Given the description of an element on the screen output the (x, y) to click on. 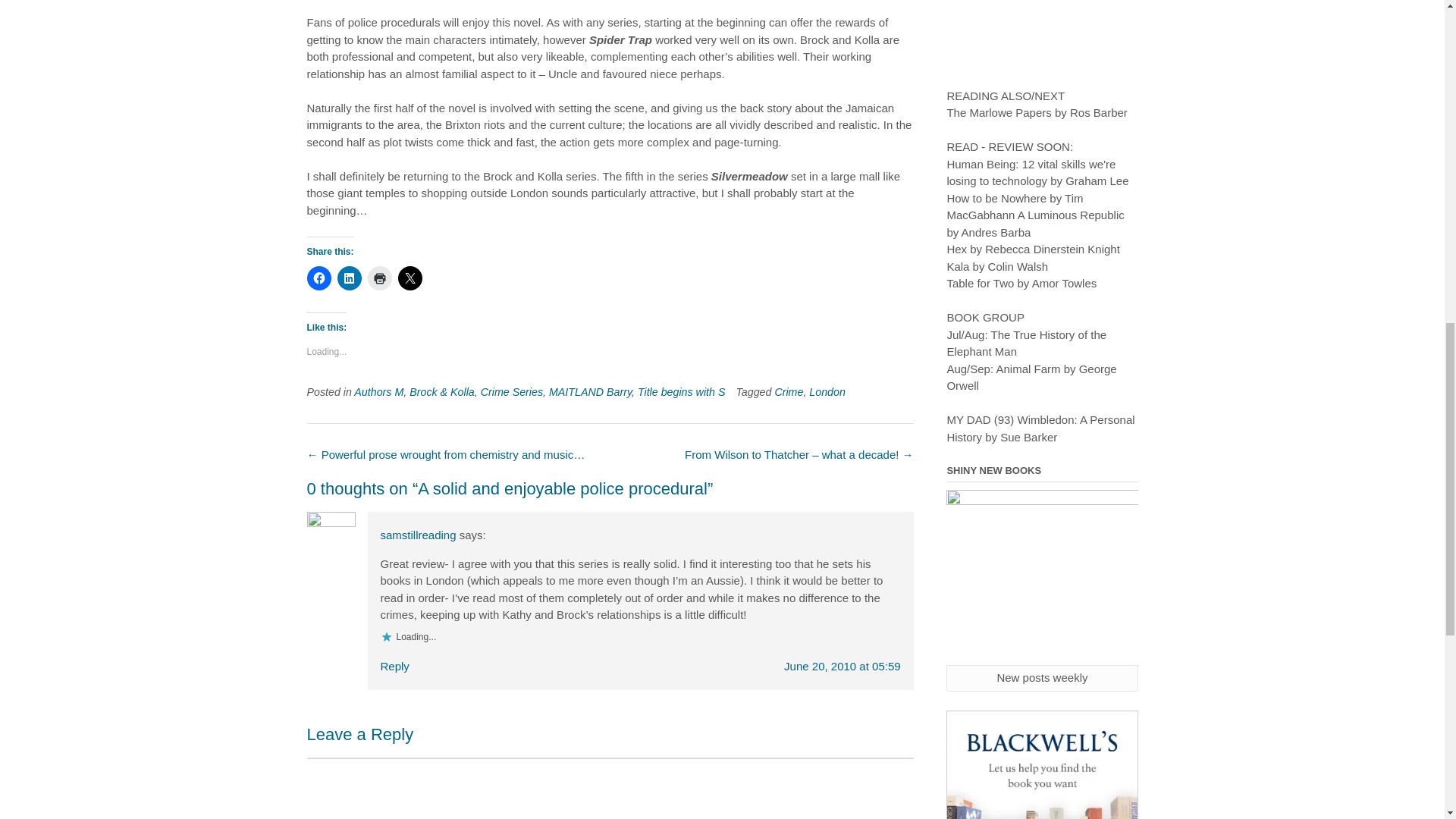
Click to share on Facebook (317, 278)
samstillreading (418, 534)
Authors M (378, 391)
London (827, 391)
Comment Form (608, 788)
MAITLAND Barry (589, 391)
www.blackwells.co.uk (1041, 764)
Crime (788, 391)
Reply (394, 666)
Click to share on LinkedIn (348, 278)
